Given the description of an element on the screen output the (x, y) to click on. 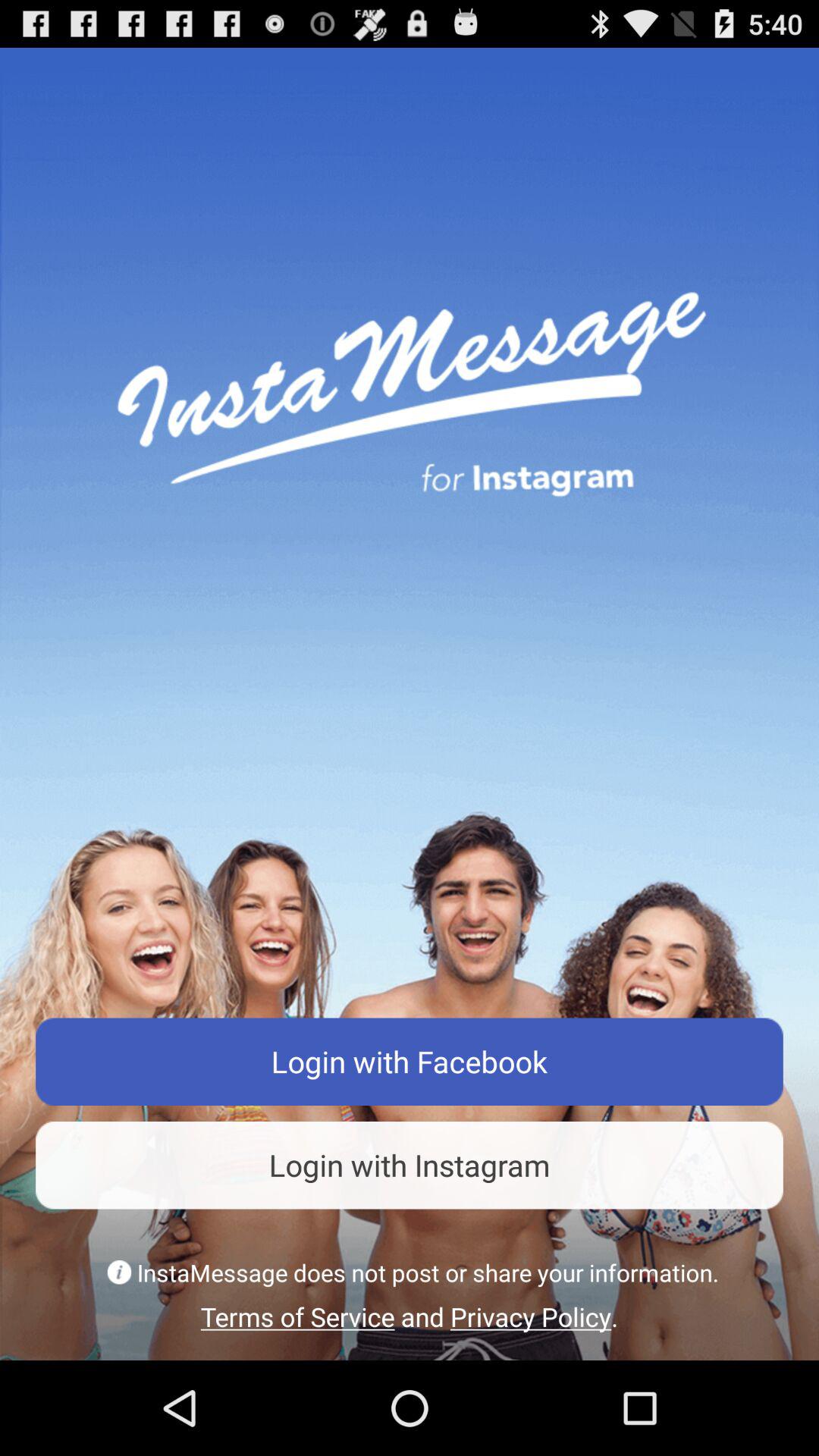
open item below img src startpage_private_statement_icon item (409, 1316)
